Given the description of an element on the screen output the (x, y) to click on. 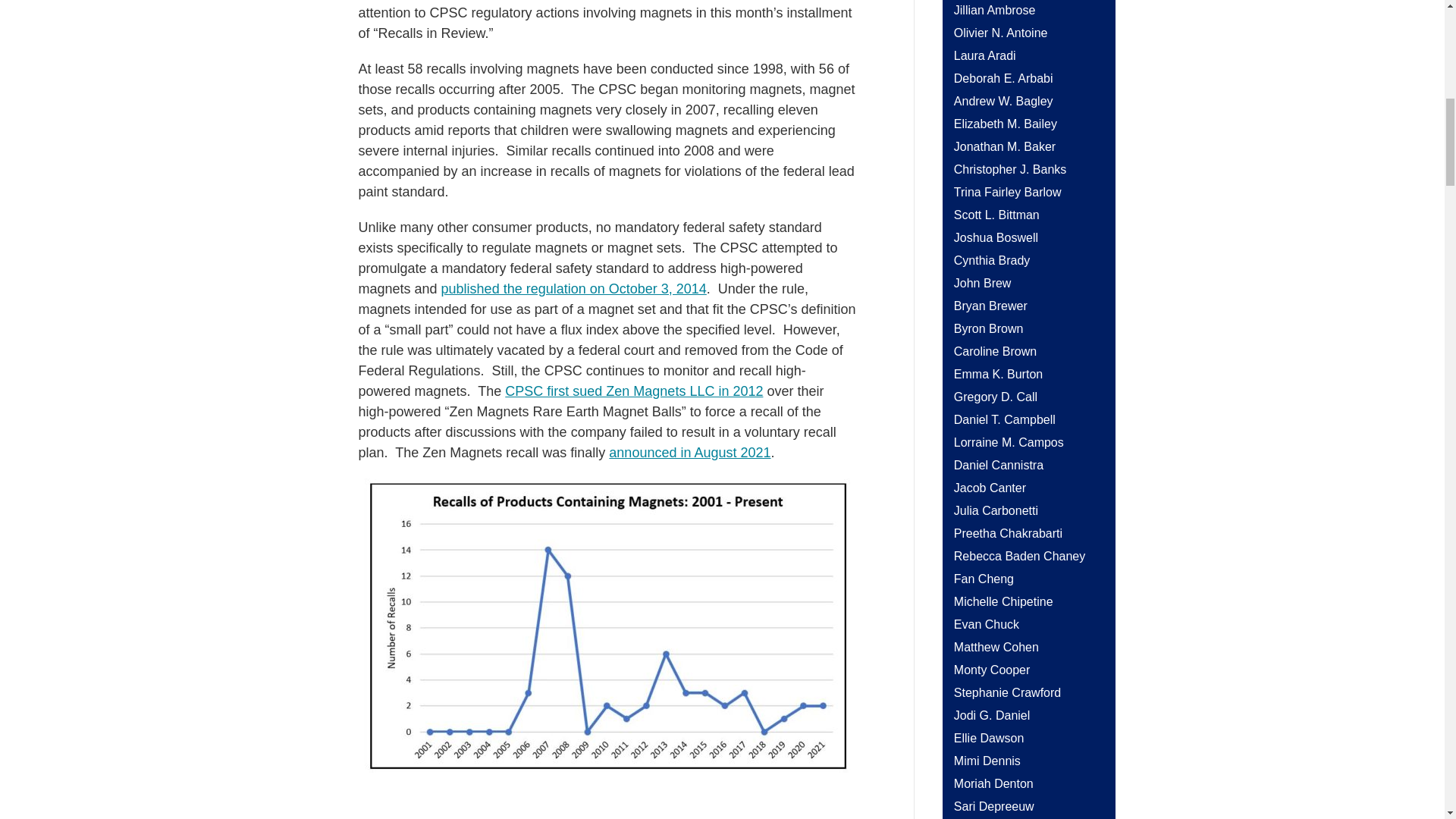
published the regulation on October 3, 2014 (573, 288)
CPSC first sued Zen Magnets LLC in 2012 (633, 391)
announced in August 2021 (689, 452)
Jillian Ambrose (994, 10)
